Given the description of an element on the screen output the (x, y) to click on. 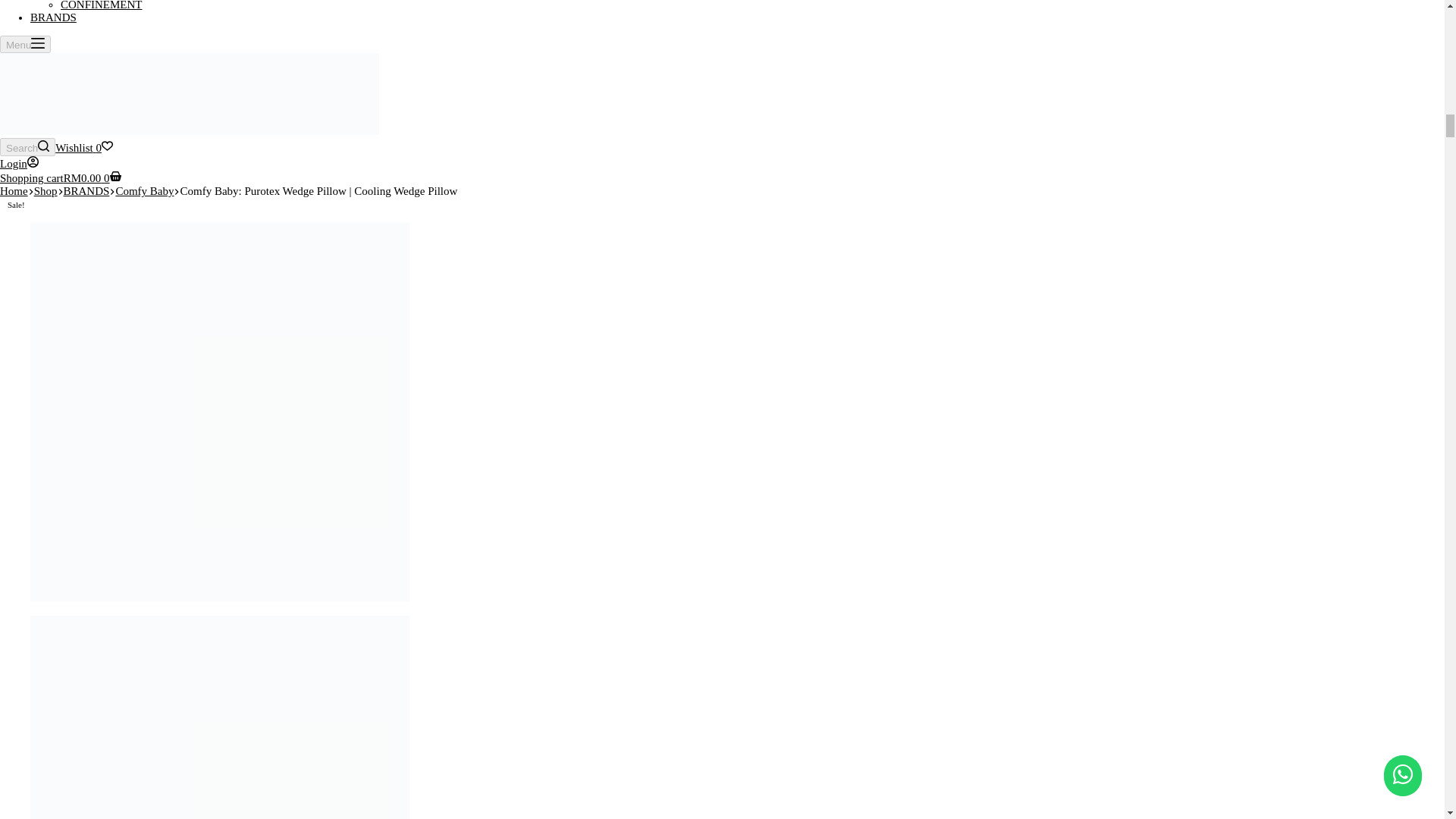
Comfy Baby Purotex Wedge Pillow (219, 717)
